Given the description of an element on the screen output the (x, y) to click on. 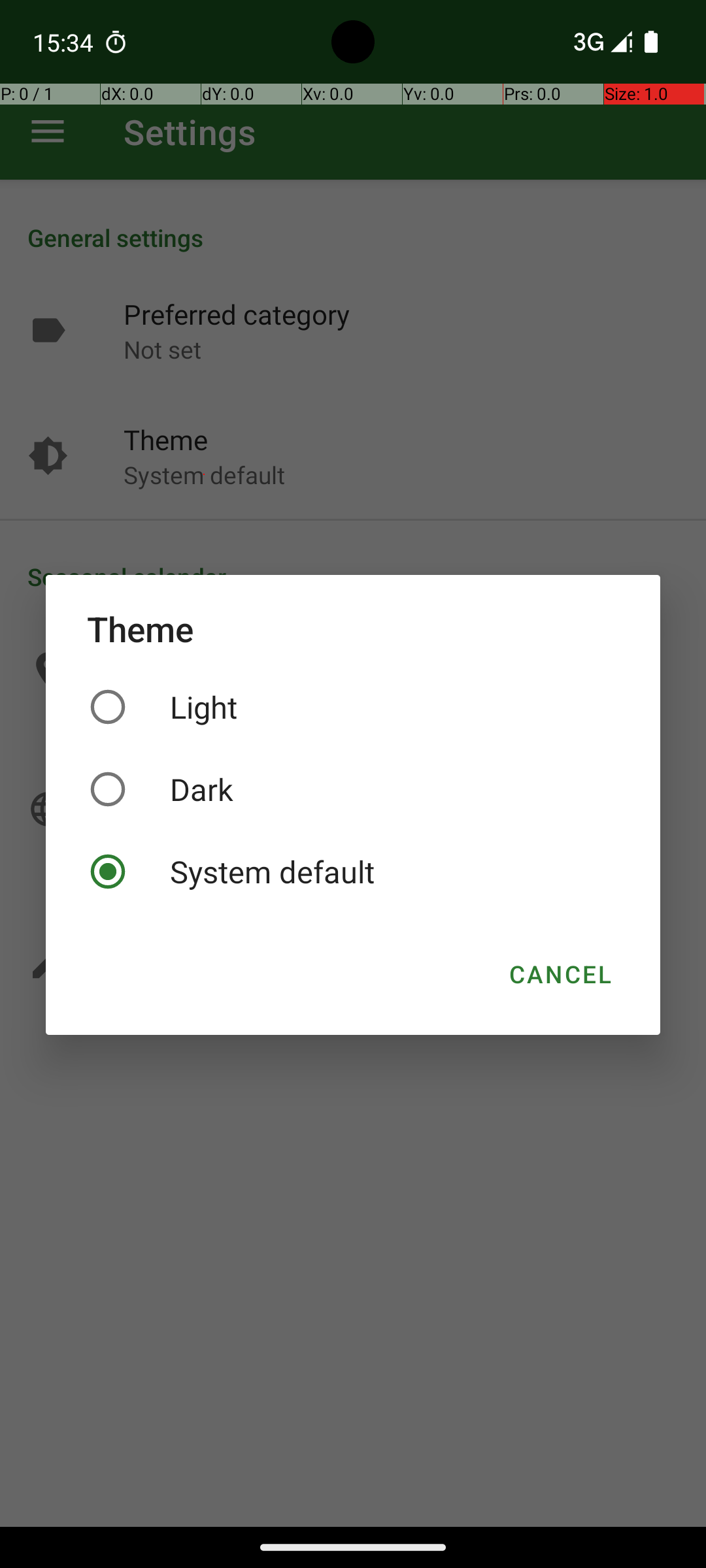
Light Element type: android.widget.CheckedTextView (352, 706)
Dark Element type: android.widget.CheckedTextView (352, 789)
